Given the description of an element on the screen output the (x, y) to click on. 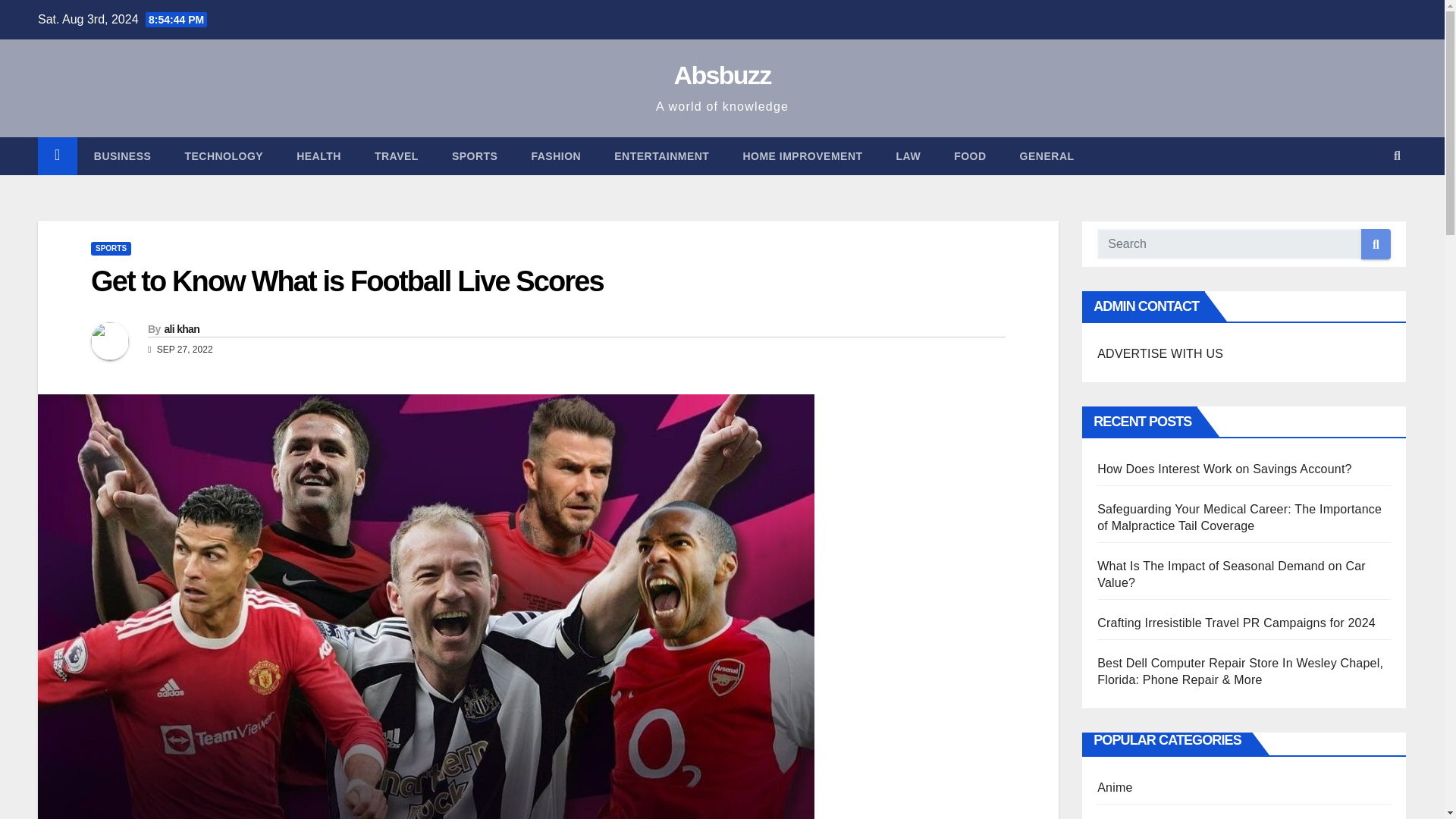
Get to Know What is Football Live Scores (347, 281)
Business (122, 156)
SPORTS (110, 248)
Law (908, 156)
ENTERTAINMENT (660, 156)
TECHNOLOGY (223, 156)
Home Improvement (802, 156)
LAW (908, 156)
HEALTH (318, 156)
GENERAL (1046, 156)
Entertainment (660, 156)
Permalink to: Get to Know What is Football Live Scores (347, 281)
Fashion (554, 156)
HOME IMPROVEMENT (802, 156)
Technology (223, 156)
